Given the description of an element on the screen output the (x, y) to click on. 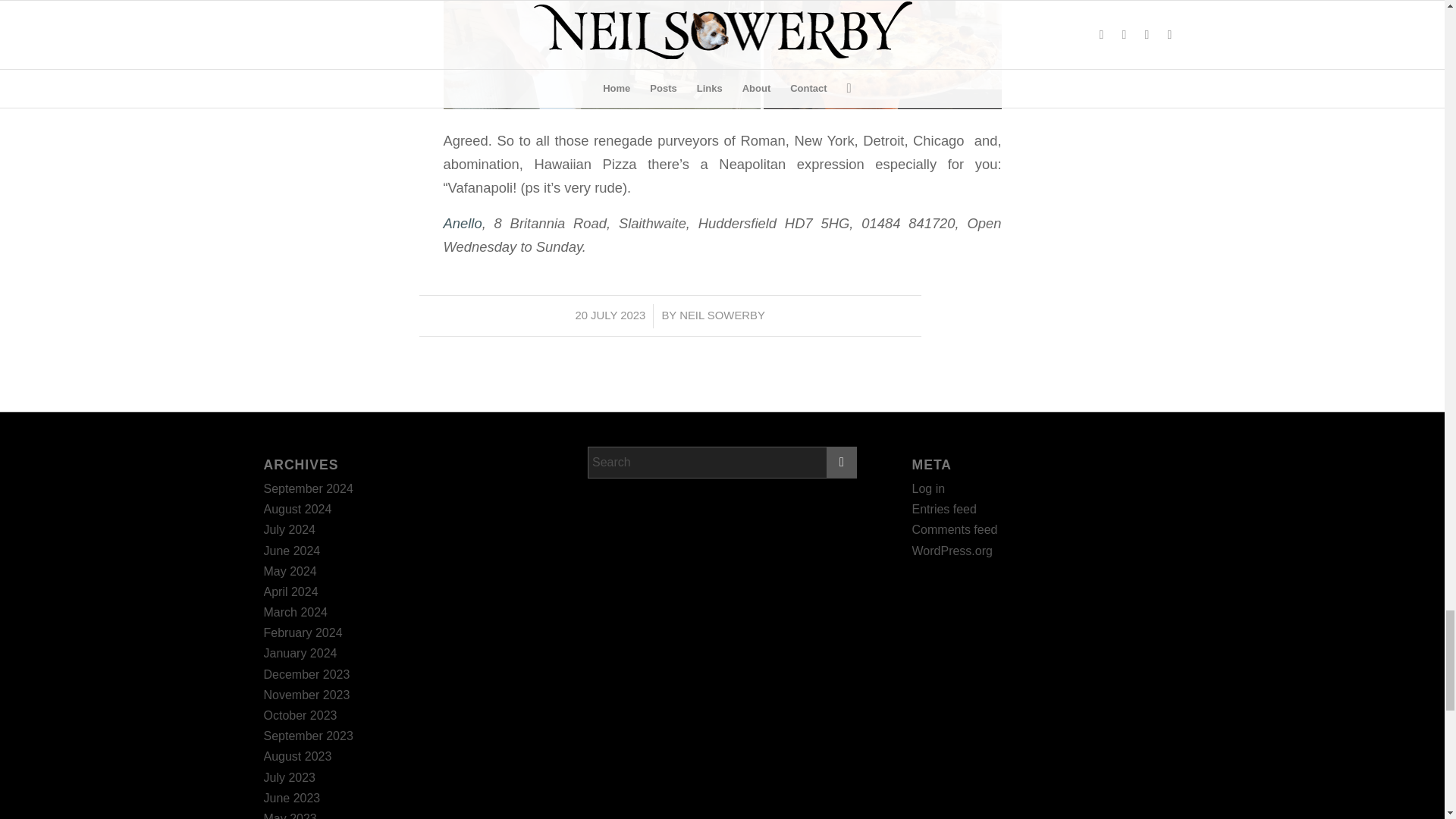
February 2024 (302, 632)
January 2024 (300, 653)
July 2023 (289, 777)
May 2023 (290, 815)
September 2024 (308, 488)
April 2024 (290, 591)
September 2023 (308, 735)
July 2024 (289, 529)
Posts by Neil Sowerby (722, 315)
May 2024 (290, 571)
